Given the description of an element on the screen output the (x, y) to click on. 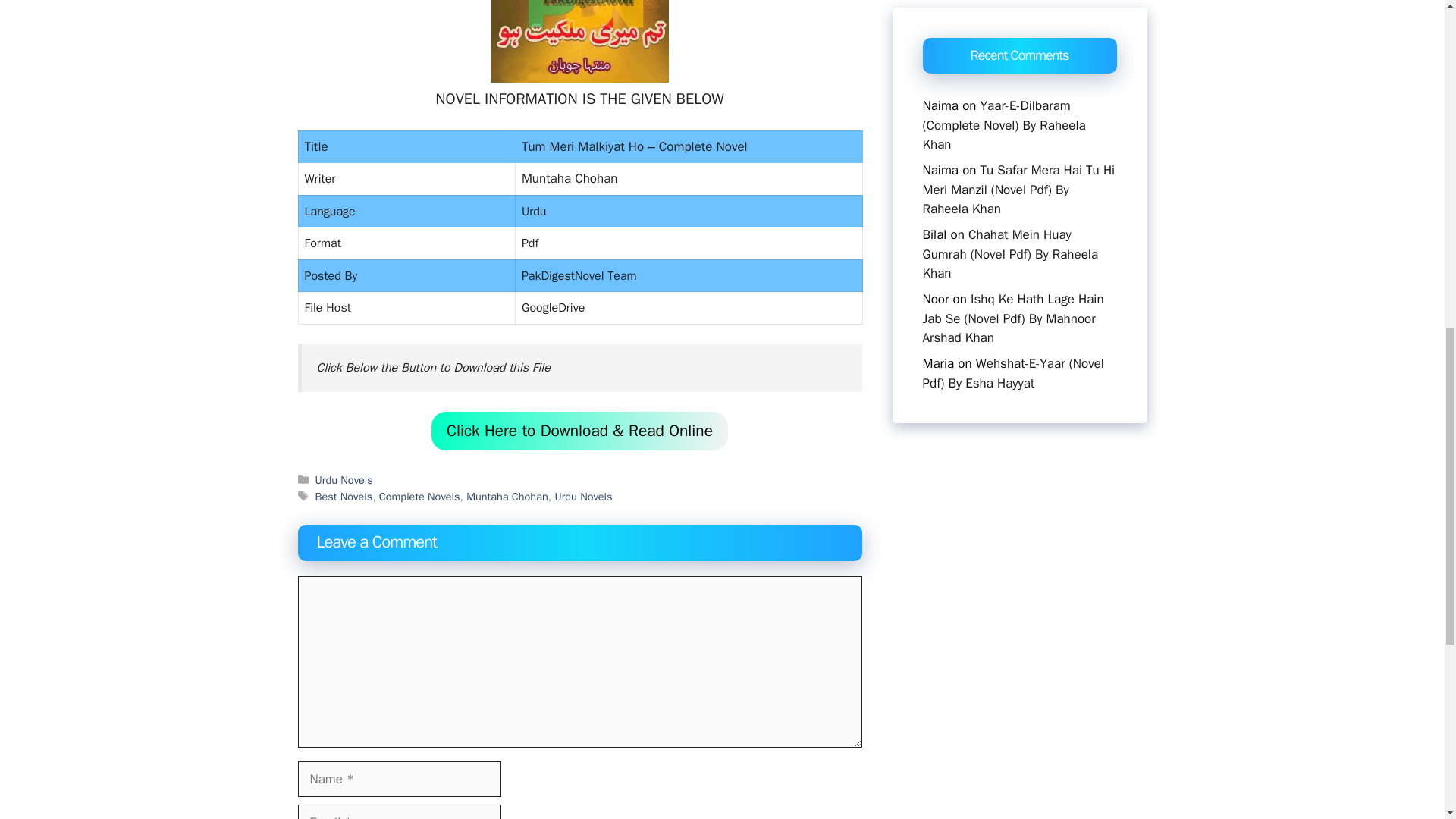
Scroll back to top (1406, 720)
